Given the description of an element on the screen output the (x, y) to click on. 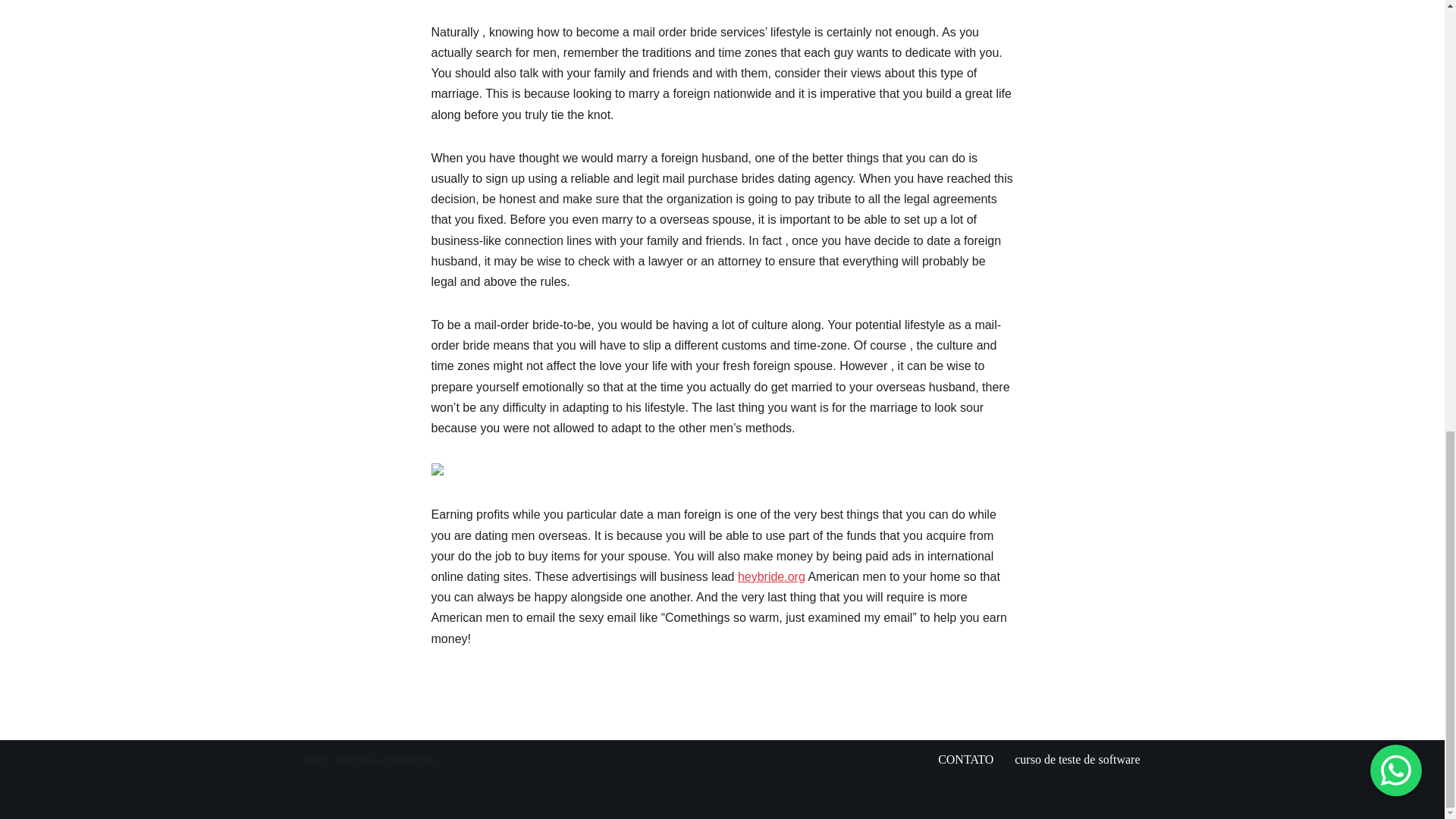
heybride.org (771, 576)
CONTATO (964, 759)
WordPress (411, 758)
curso de teste de software (1077, 759)
Neve (314, 758)
